Given the description of an element on the screen output the (x, y) to click on. 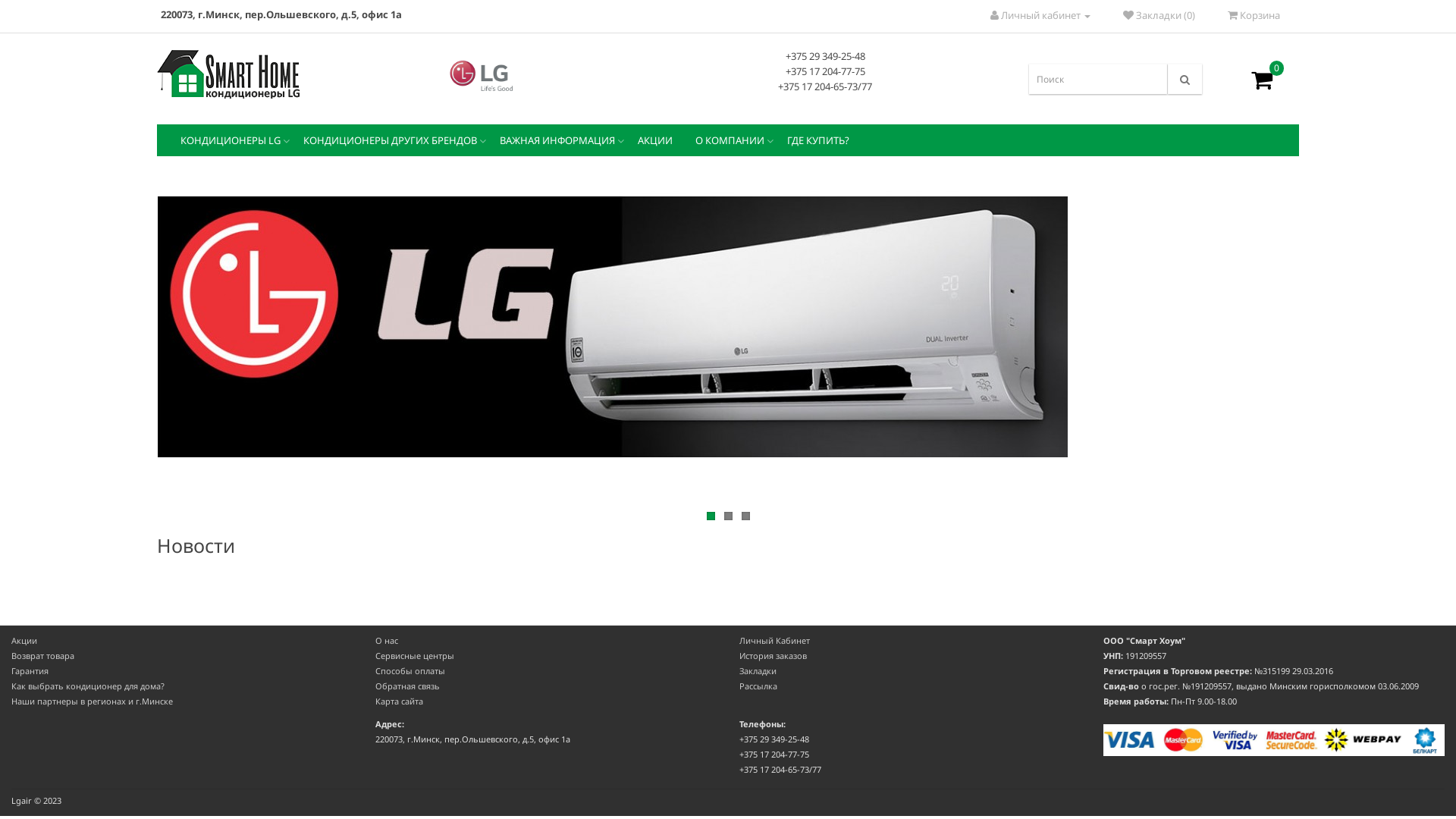
Lgair Element type: hover (228, 73)
0 Element type: text (1261, 79)
